Given the description of an element on the screen output the (x, y) to click on. 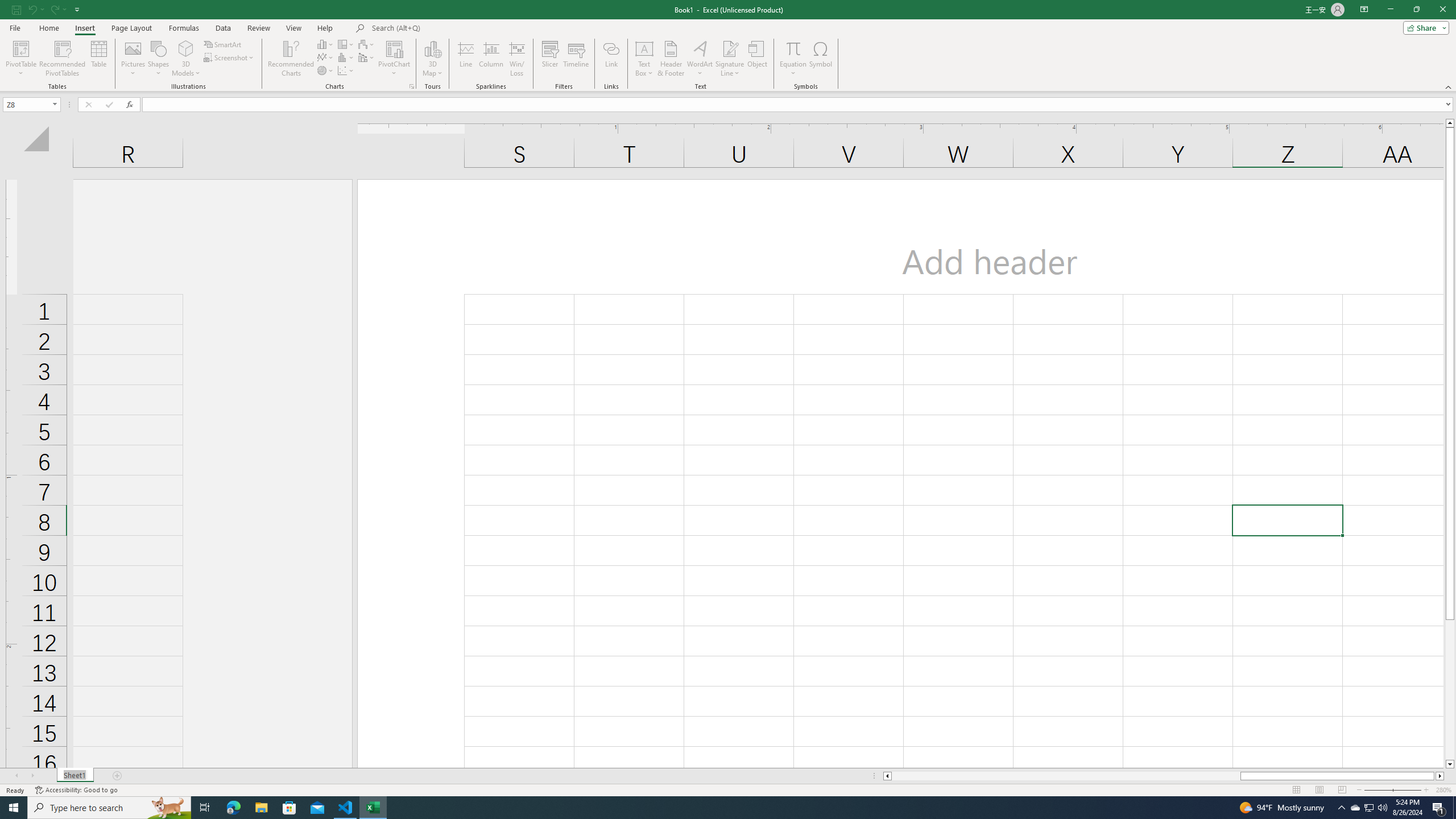
Signature Line (729, 58)
Timeline (575, 58)
Insert Statistic Chart (346, 56)
Win/Loss (516, 58)
Screenshot (229, 56)
Link (611, 58)
